Given the description of an element on the screen output the (x, y) to click on. 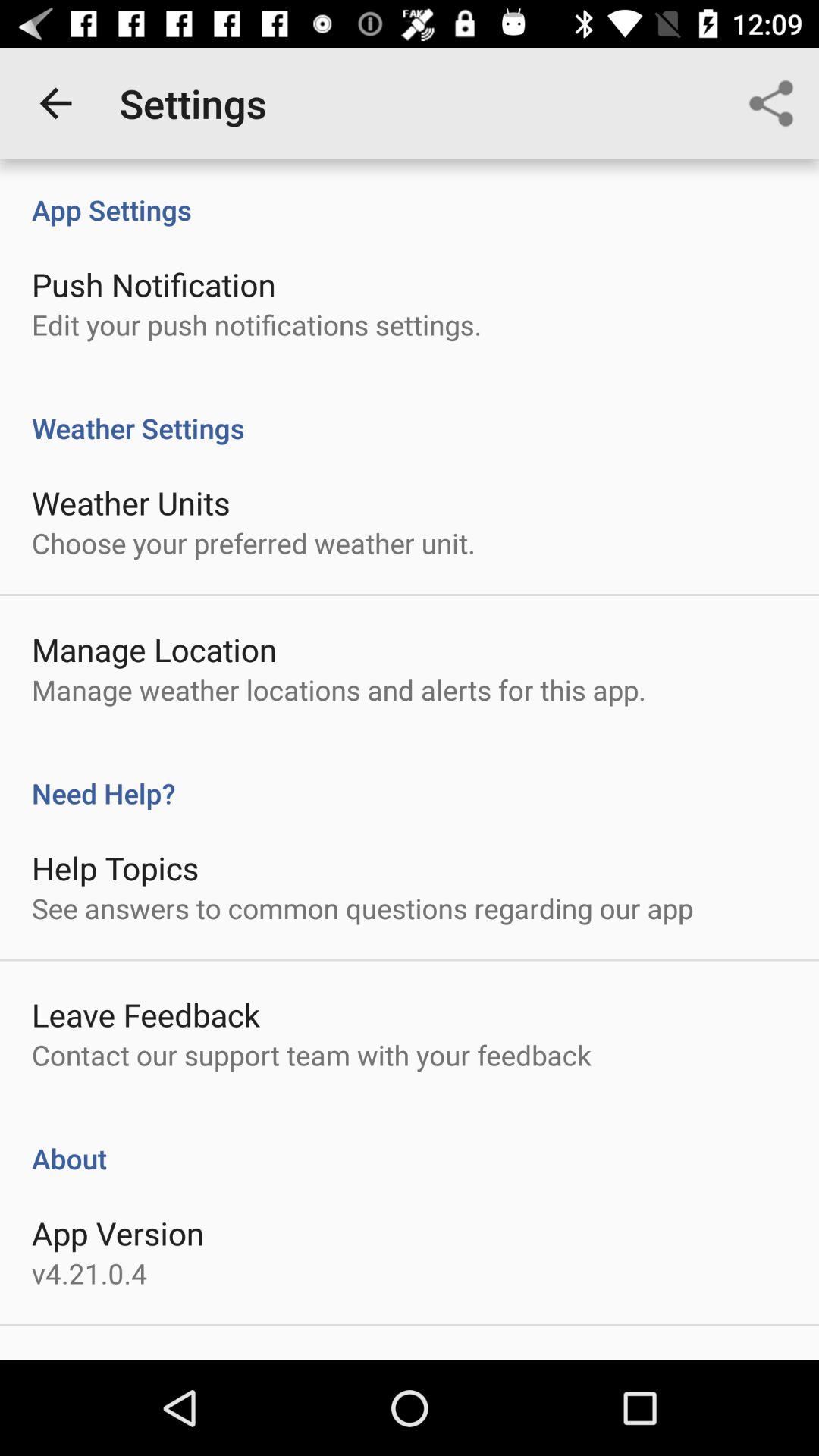
open the item below the app settings (153, 283)
